Given the description of an element on the screen output the (x, y) to click on. 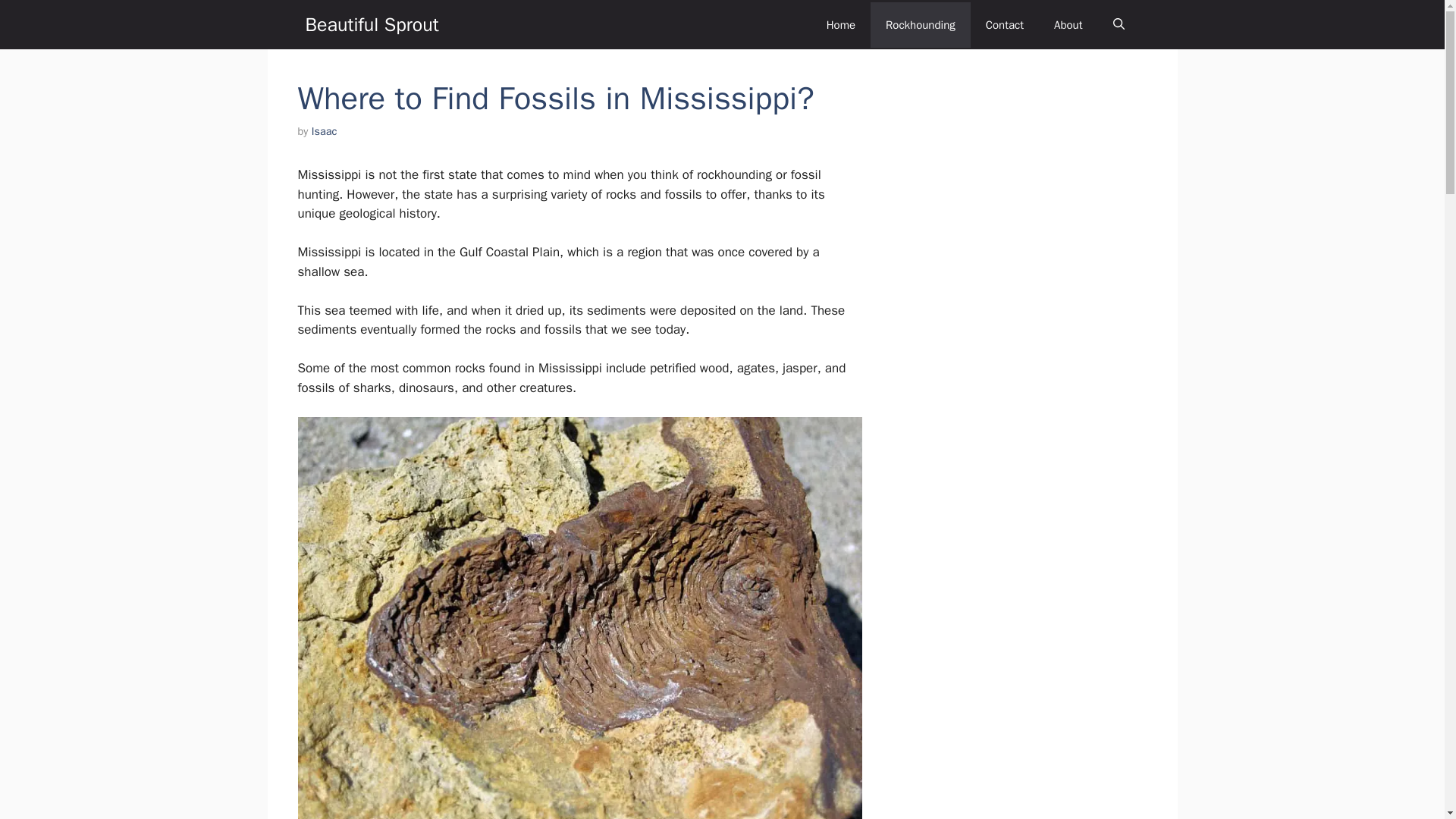
Rockhounding (920, 23)
View all posts by Isaac (324, 131)
Beautiful Sprout (371, 24)
Contact (1005, 23)
About (1068, 23)
Home (840, 23)
Isaac (324, 131)
